Given the description of an element on the screen output the (x, y) to click on. 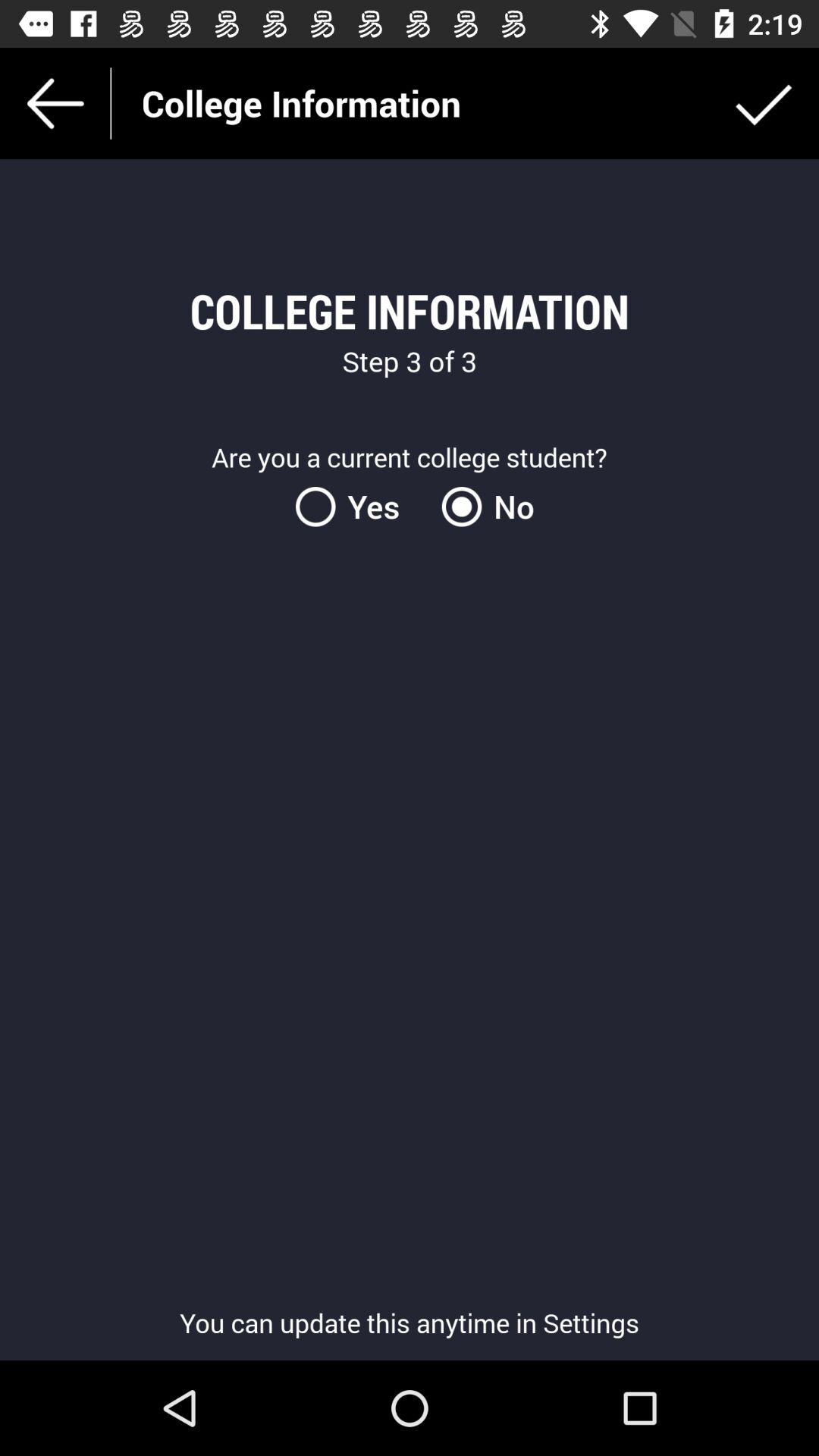
tap yes (356, 506)
